Given the description of an element on the screen output the (x, y) to click on. 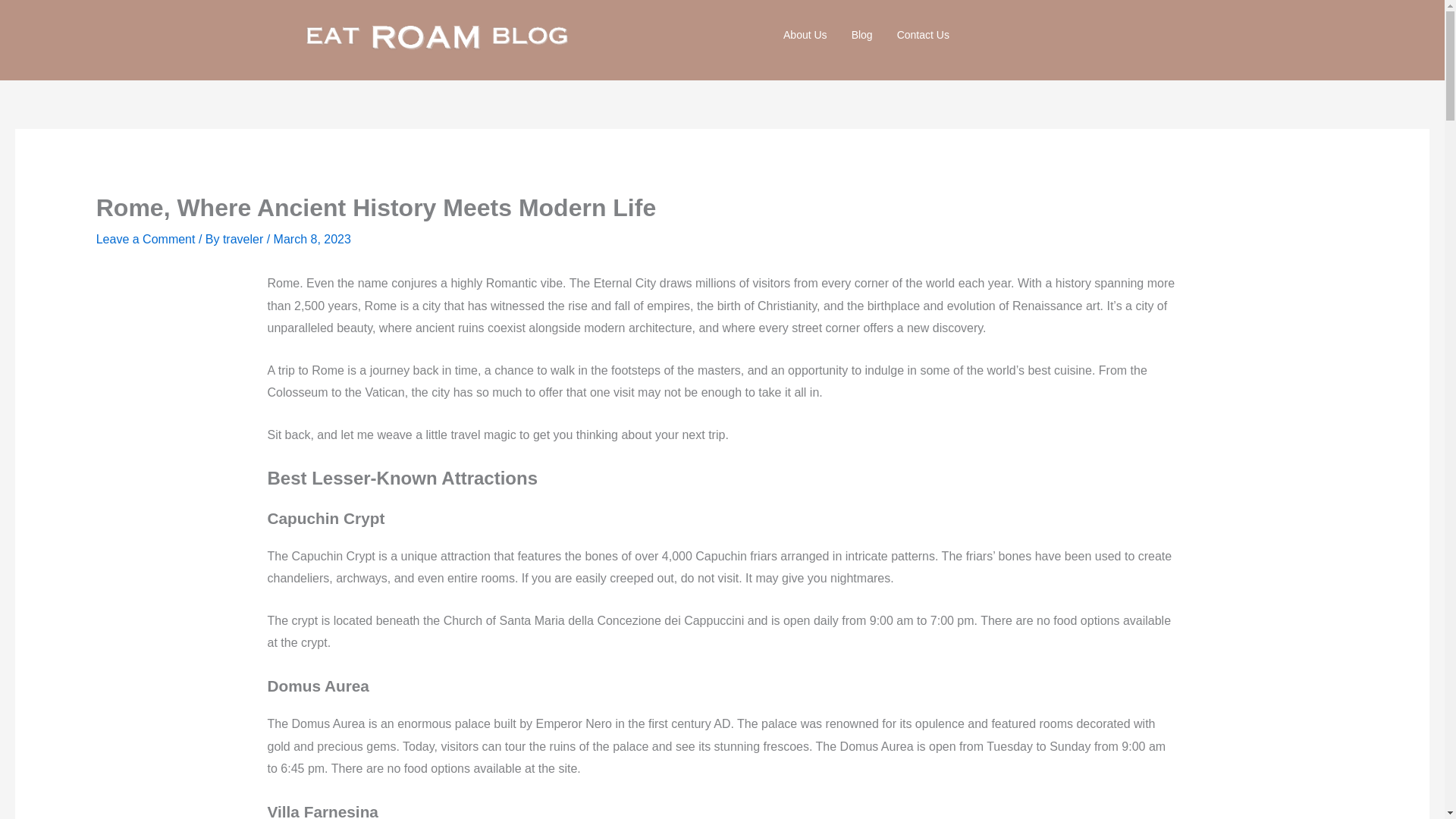
View all posts by traveler (244, 238)
About Us (805, 34)
Contact Us (922, 34)
traveler (244, 238)
Blog (862, 34)
Leave a Comment (145, 238)
